Given the description of an element on the screen output the (x, y) to click on. 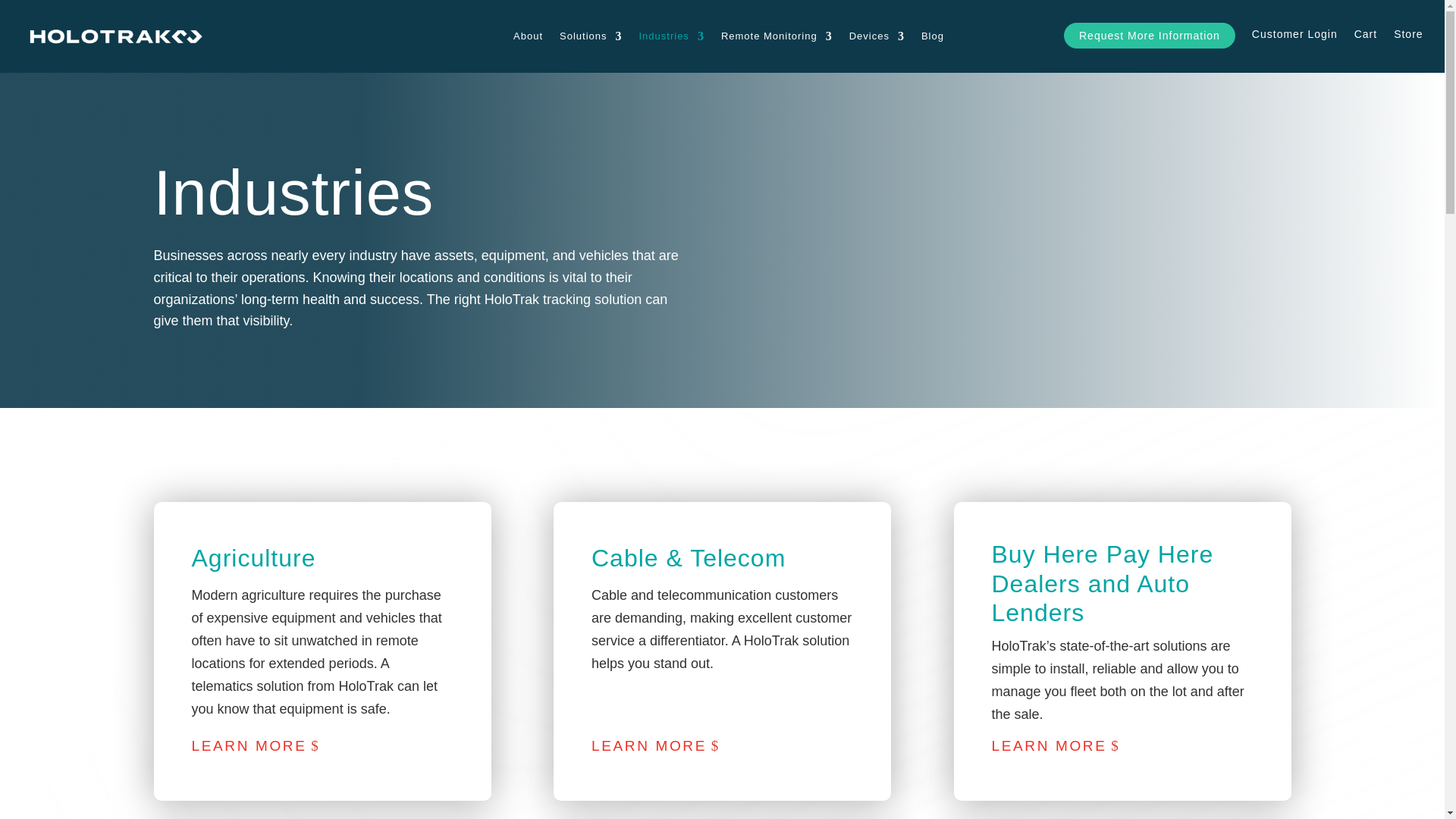
Industries (671, 36)
Remote Monitoring (776, 36)
Devices (876, 36)
Solutions (590, 36)
